Given the description of an element on the screen output the (x, y) to click on. 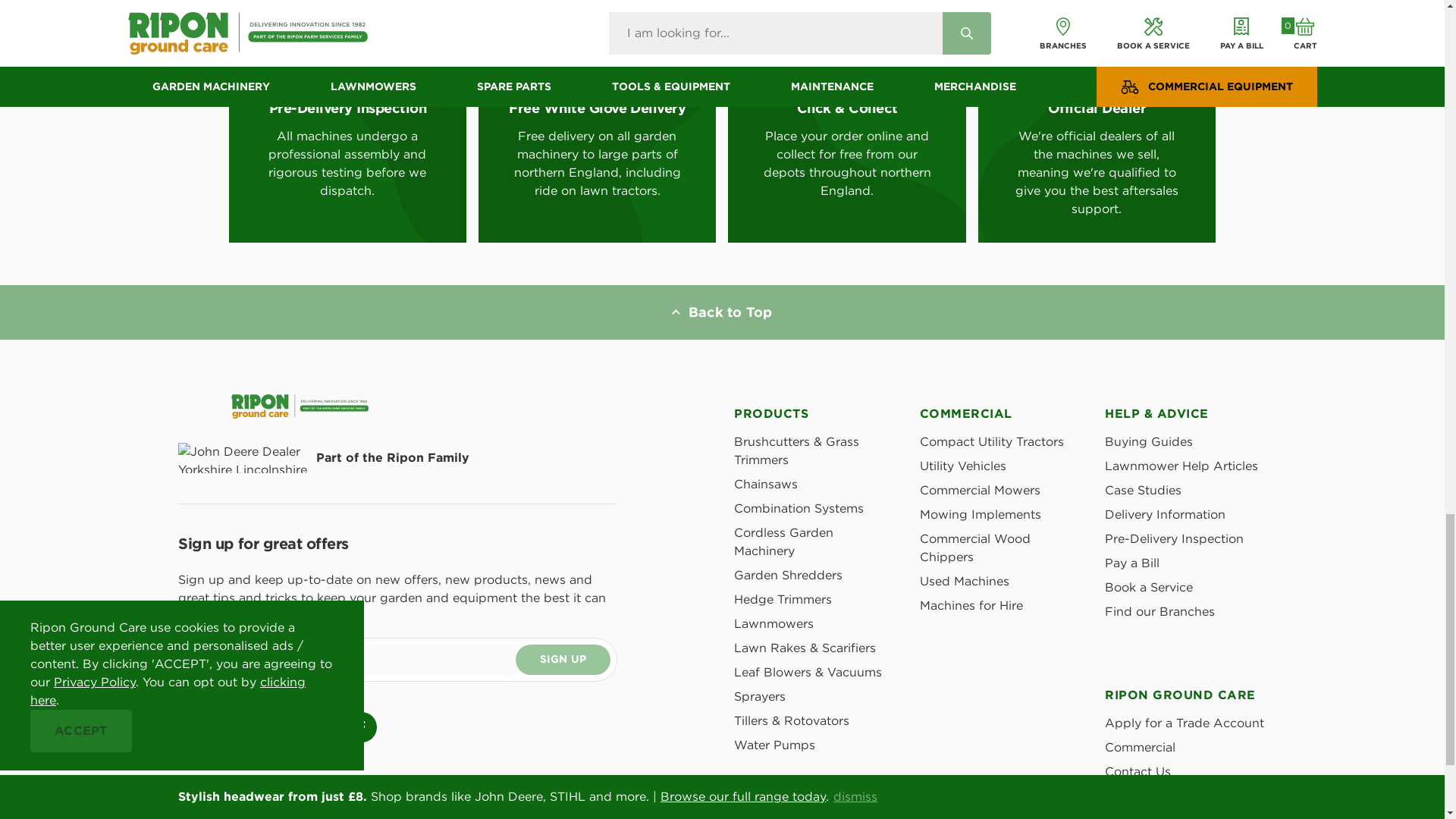
Hedge Trimmers (782, 599)
Follow us on LinkedIn (277, 726)
Lawnmowers (773, 623)
Water Pumps (774, 744)
Cordless Garden Machinery (782, 541)
Like us on Facebook (361, 726)
Sprayers (759, 696)
Follow us on YouTube (319, 726)
Garden Shredders (788, 575)
Chainsaws (765, 483)
